Given the description of an element on the screen output the (x, y) to click on. 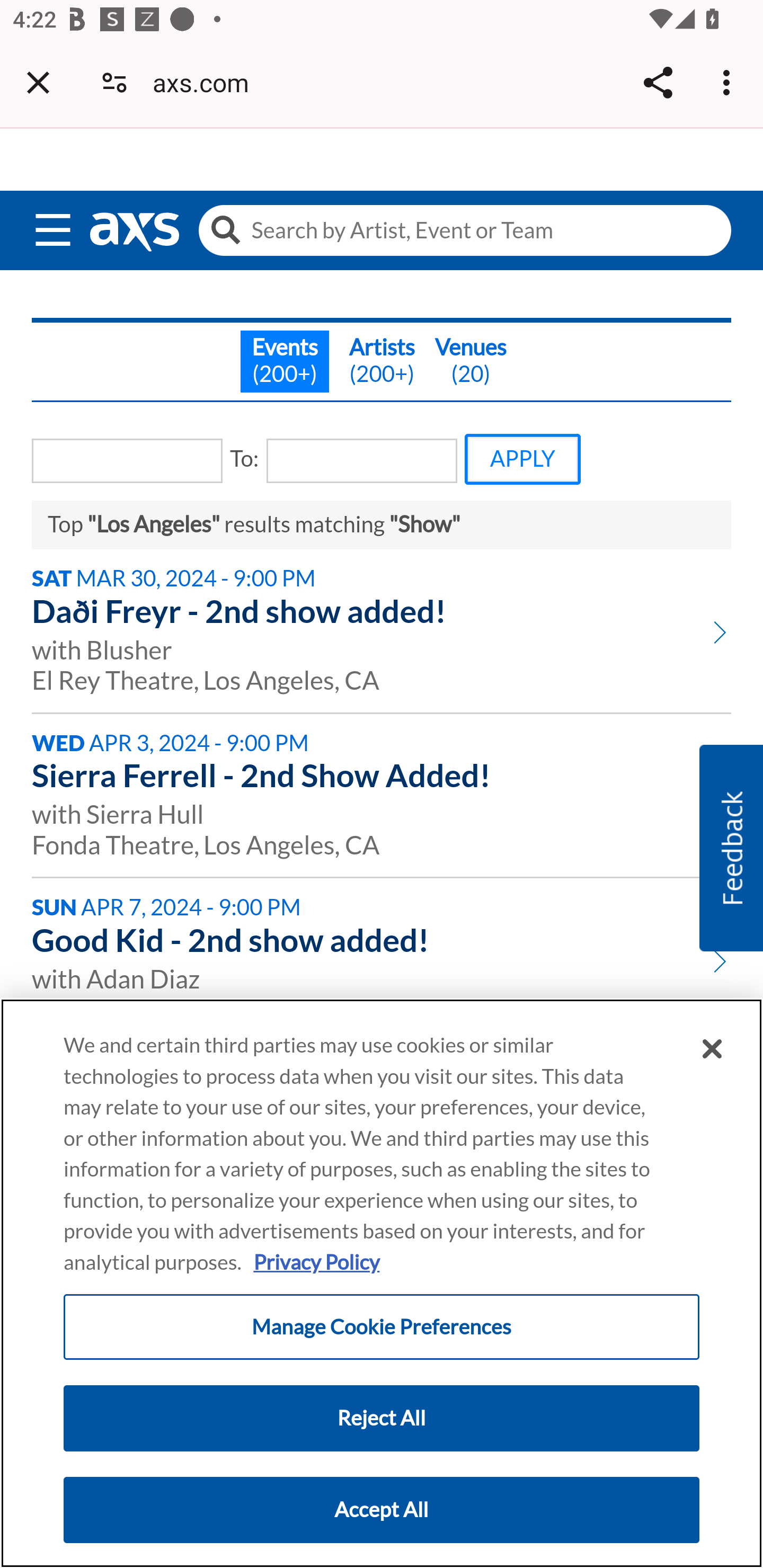
Close tab (38, 82)
Share (657, 82)
Customize and control Google Chrome (729, 82)
Connection is secure (114, 81)
axs.com (206, 81)
menu (53, 226)
axs-logo (134, 232)
Events (200+) Events (200+) (284, 361)
Artists (200+) Artists (200+) (381, 360)
Venues (20) Venues (20) (470, 360)
APPLY (522, 458)
Usabilla Feedback Button (731, 847)
Close (711, 1049)
More information about your privacy Privacy Policy (315, 1261)
Manage Cookie Preferences (381, 1327)
Reject All (381, 1417)
Accept All (381, 1509)
